Given the description of an element on the screen output the (x, y) to click on. 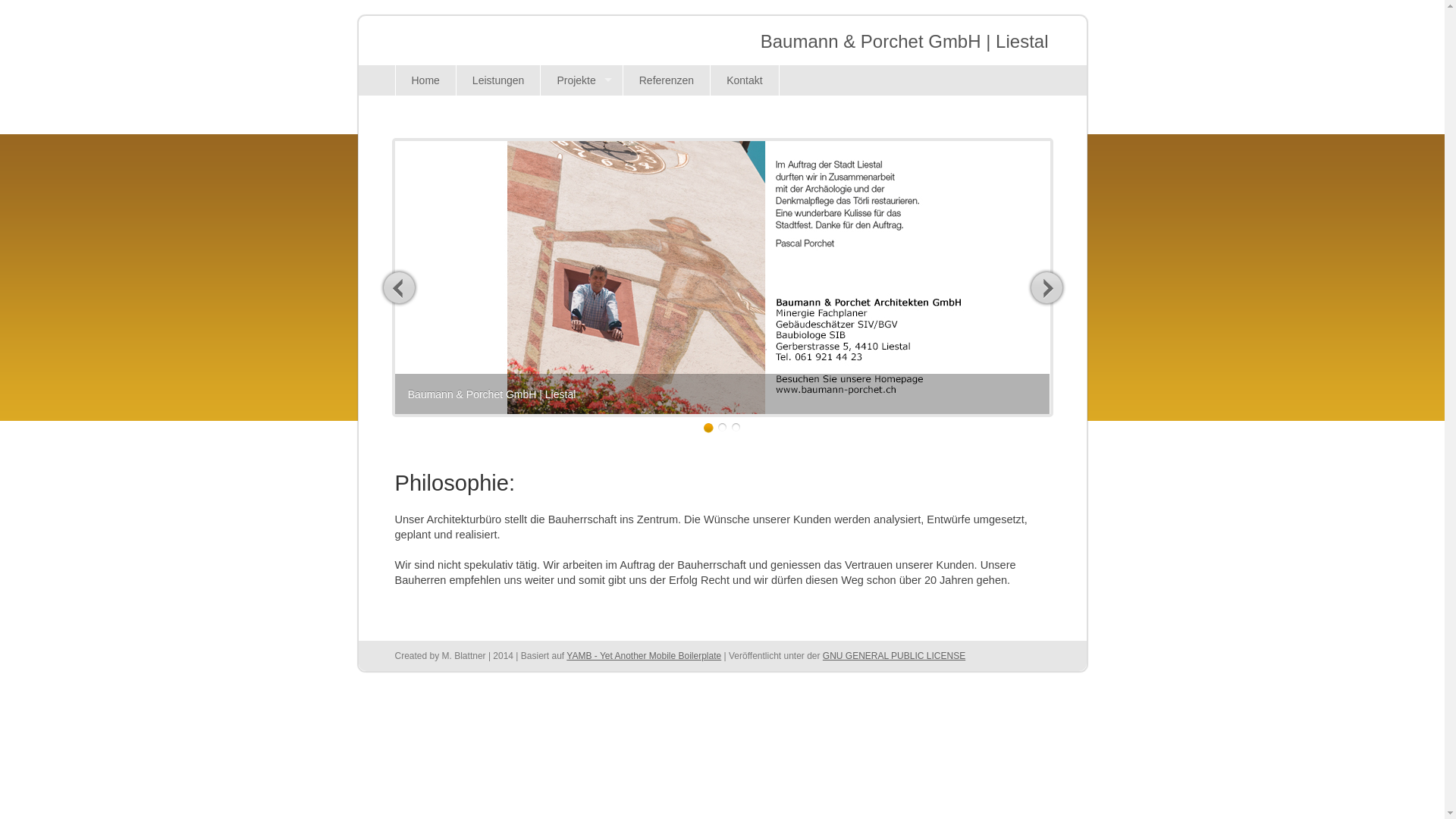
3 Element type: text (735, 428)
2 Element type: text (722, 428)
Kontakt Element type: text (743, 80)
YAMB - Yet Another Mobile Boilerplate Element type: text (643, 655)
GNU GENERAL PUBLIC LICENSE Element type: text (893, 655)
Home Element type: text (424, 80)
Projekte Element type: text (580, 80)
Leistungen Element type: text (497, 80)
Previous Element type: text (398, 287)
Next Element type: text (1046, 287)
1 Element type: text (708, 428)
Referenzen Element type: text (665, 80)
